Given the description of an element on the screen output the (x, y) to click on. 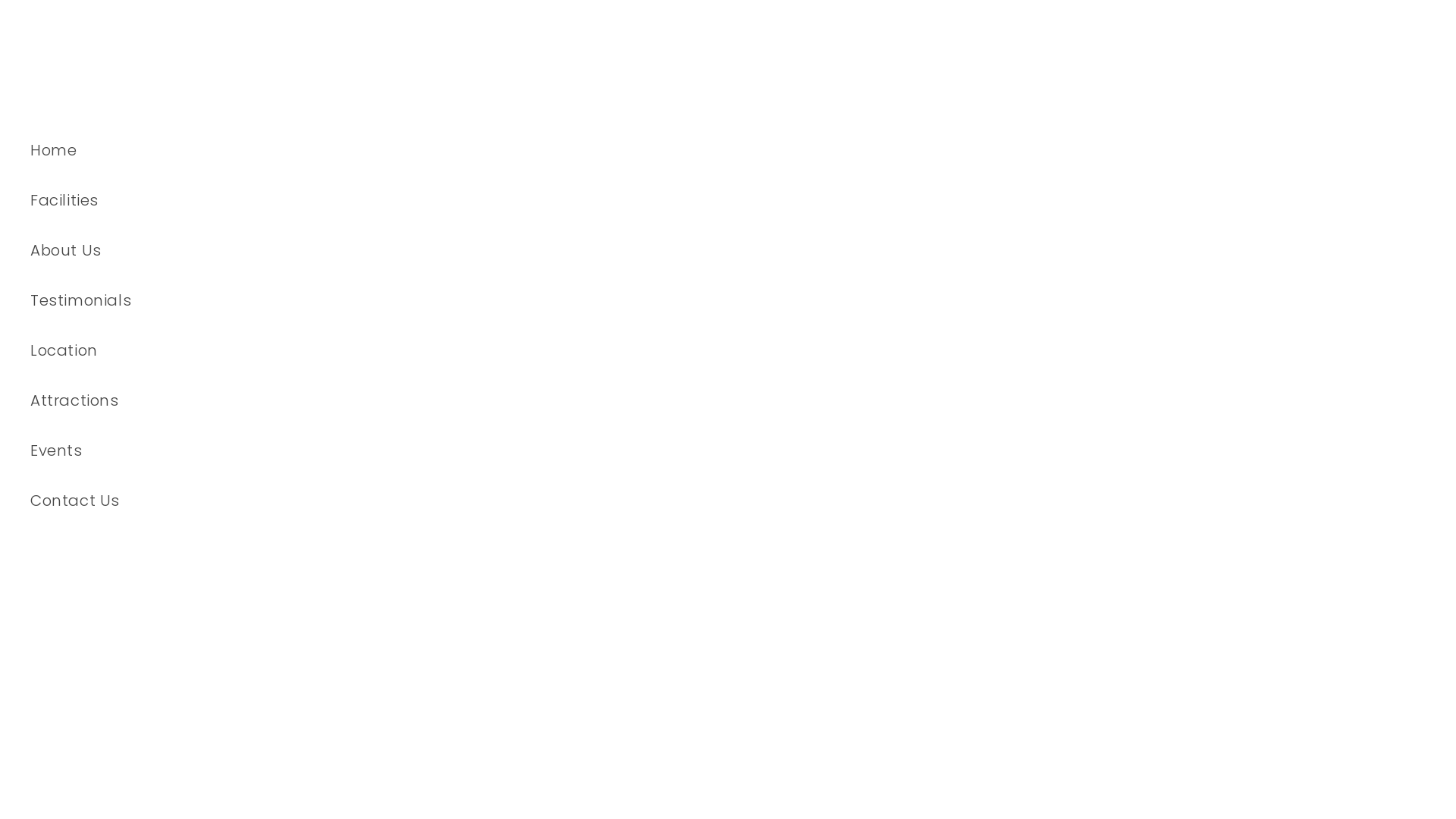
About Us Element type: text (291, 250)
Testimonials Element type: text (291, 300)
Location Element type: text (291, 350)
Contact Us Element type: text (291, 500)
Facilities Element type: text (291, 200)
Events Element type: text (291, 450)
Attractions Element type: text (291, 400)
Home Element type: text (291, 150)
